Given the description of an element on the screen output the (x, y) to click on. 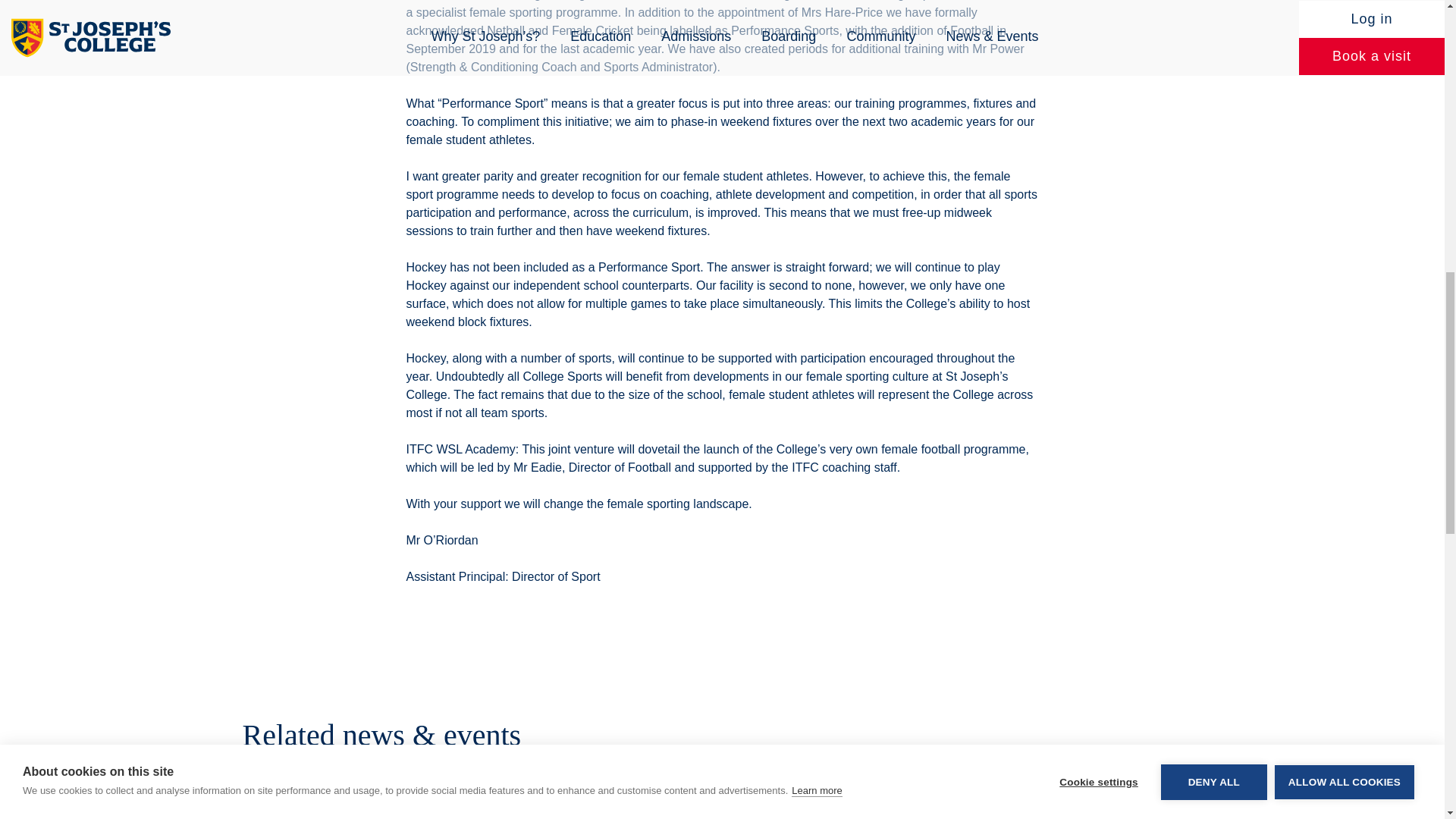
Cookie settings (1098, 6)
Learn more (816, 10)
